Given the description of an element on the screen output the (x, y) to click on. 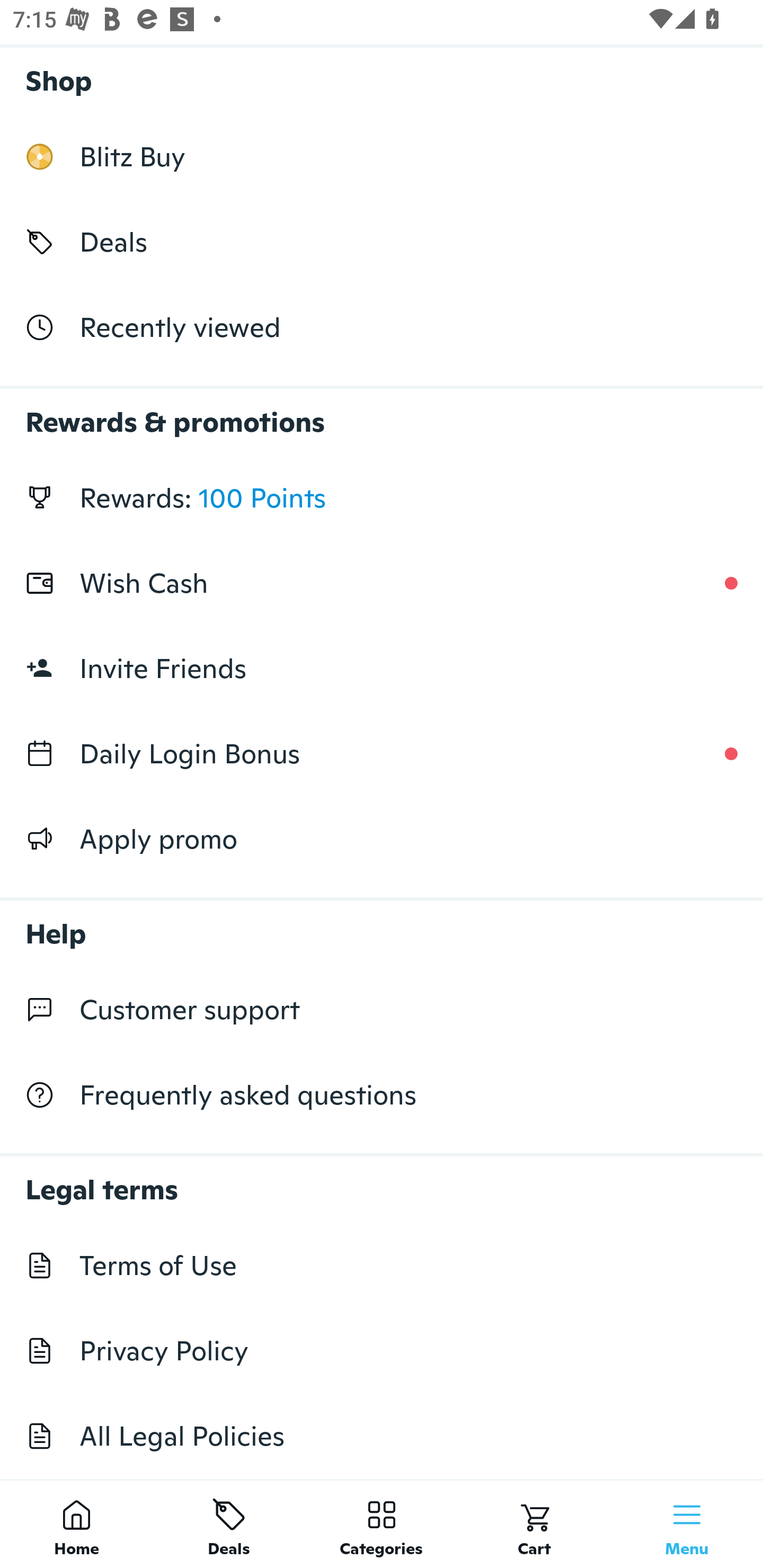
Shop (381, 75)
Blitz Buy (381, 156)
Deals (381, 242)
Recently viewed (381, 326)
Rewards & promotions (381, 413)
Rewards: 100 Points (381, 497)
Wish Cash (381, 582)
Invite Friends (381, 668)
Daily Login Bonus (381, 753)
Apply promo (381, 838)
Help (381, 924)
Customer support (381, 1009)
Frequently asked questions (381, 1095)
Legal terms (381, 1179)
Terms of Use (381, 1265)
Privacy Policy (381, 1350)
All Legal Policies (381, 1435)
Home (76, 1523)
Deals (228, 1523)
Categories (381, 1523)
Cart (533, 1523)
Menu (686, 1523)
